Given the description of an element on the screen output the (x, y) to click on. 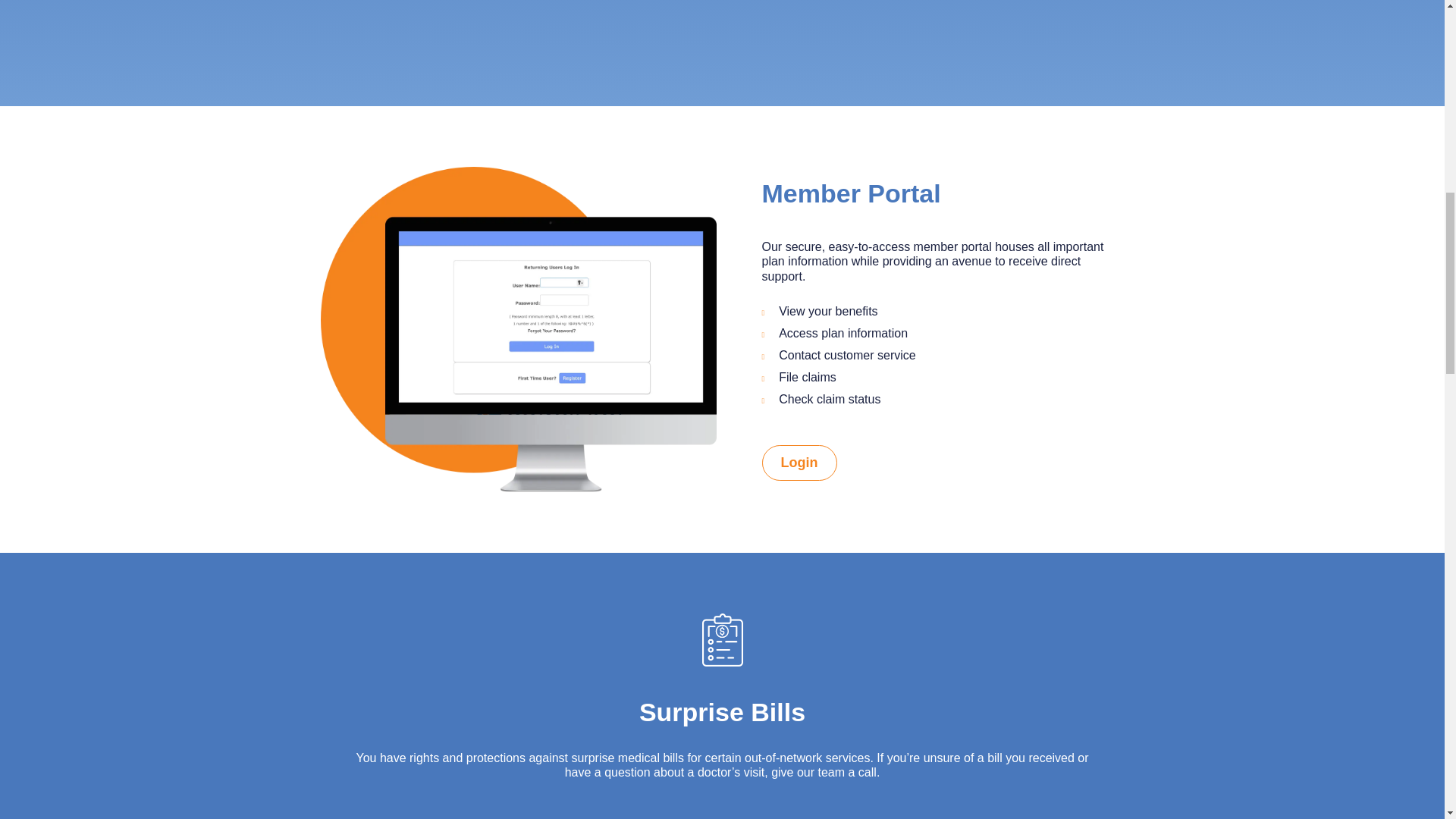
computer (518, 329)
Login (799, 463)
